Given the description of an element on the screen output the (x, y) to click on. 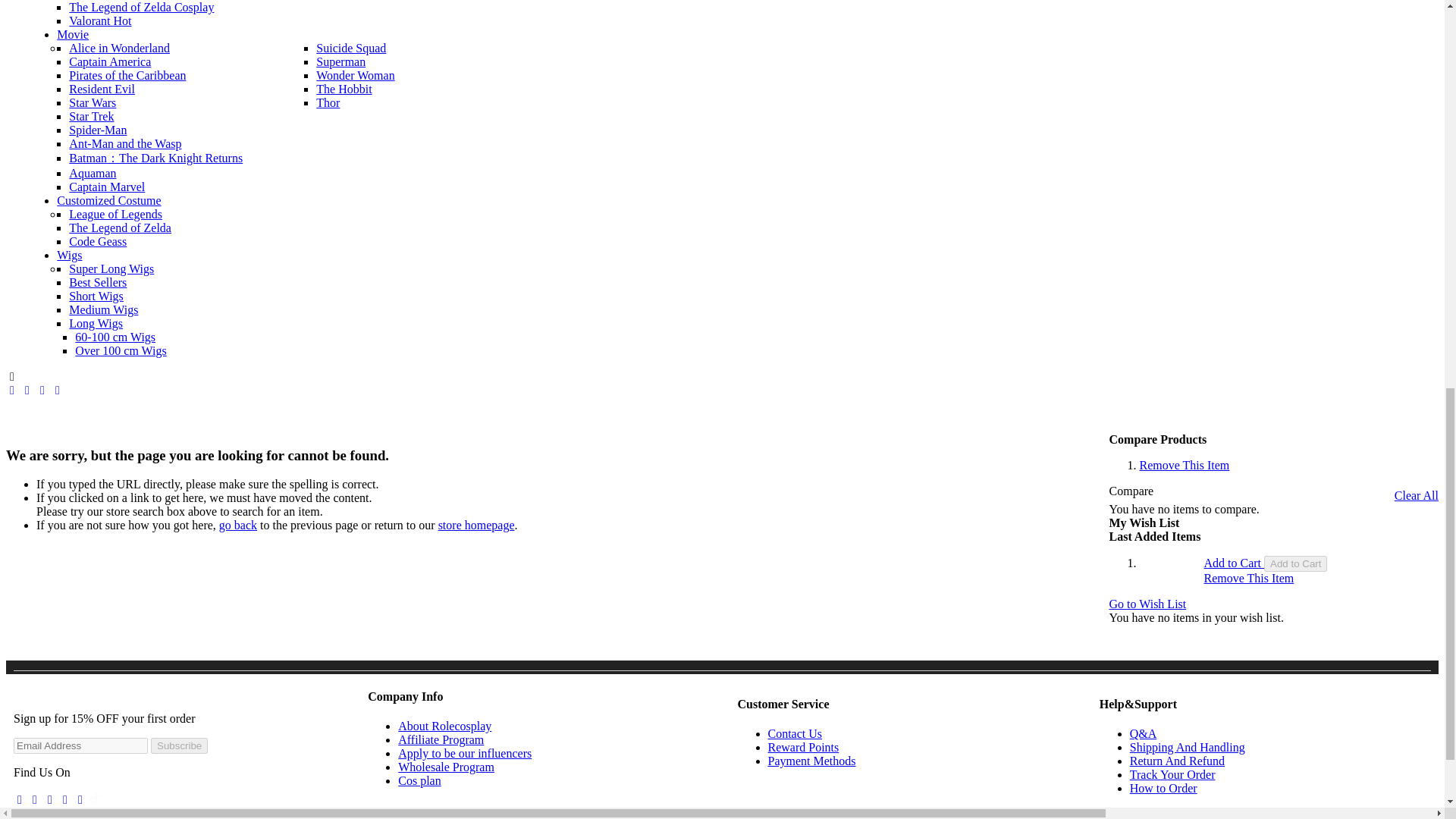
Youtube (49, 799)
Subscribe (179, 745)
Pinterest (65, 799)
Facebook (11, 390)
Remove This Item (1249, 577)
Facebook (19, 799)
Twitter (79, 799)
Instagram (42, 390)
Remove This Item (1185, 464)
Instagram (34, 799)
Go to Wish List (1147, 603)
Youtube (57, 390)
Twitter (27, 390)
